Given the description of an element on the screen output the (x, y) to click on. 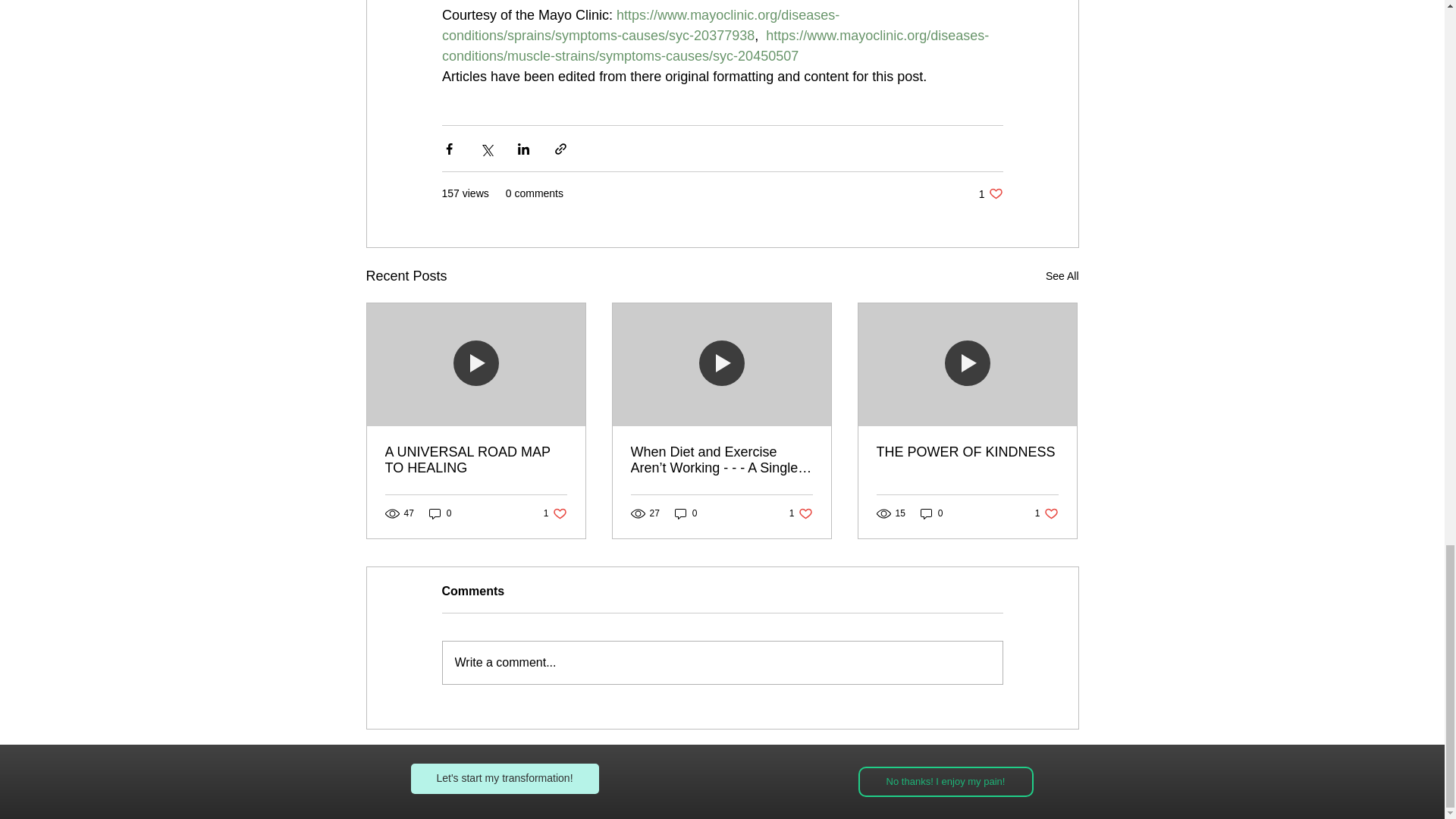
A UNIVERSAL ROAD MAP TO HEALING (1046, 513)
Write a comment... (476, 459)
See All (990, 193)
0 (722, 662)
THE POWER OF KINDNESS (1061, 276)
0 (440, 513)
0 (967, 452)
